Given the description of an element on the screen output the (x, y) to click on. 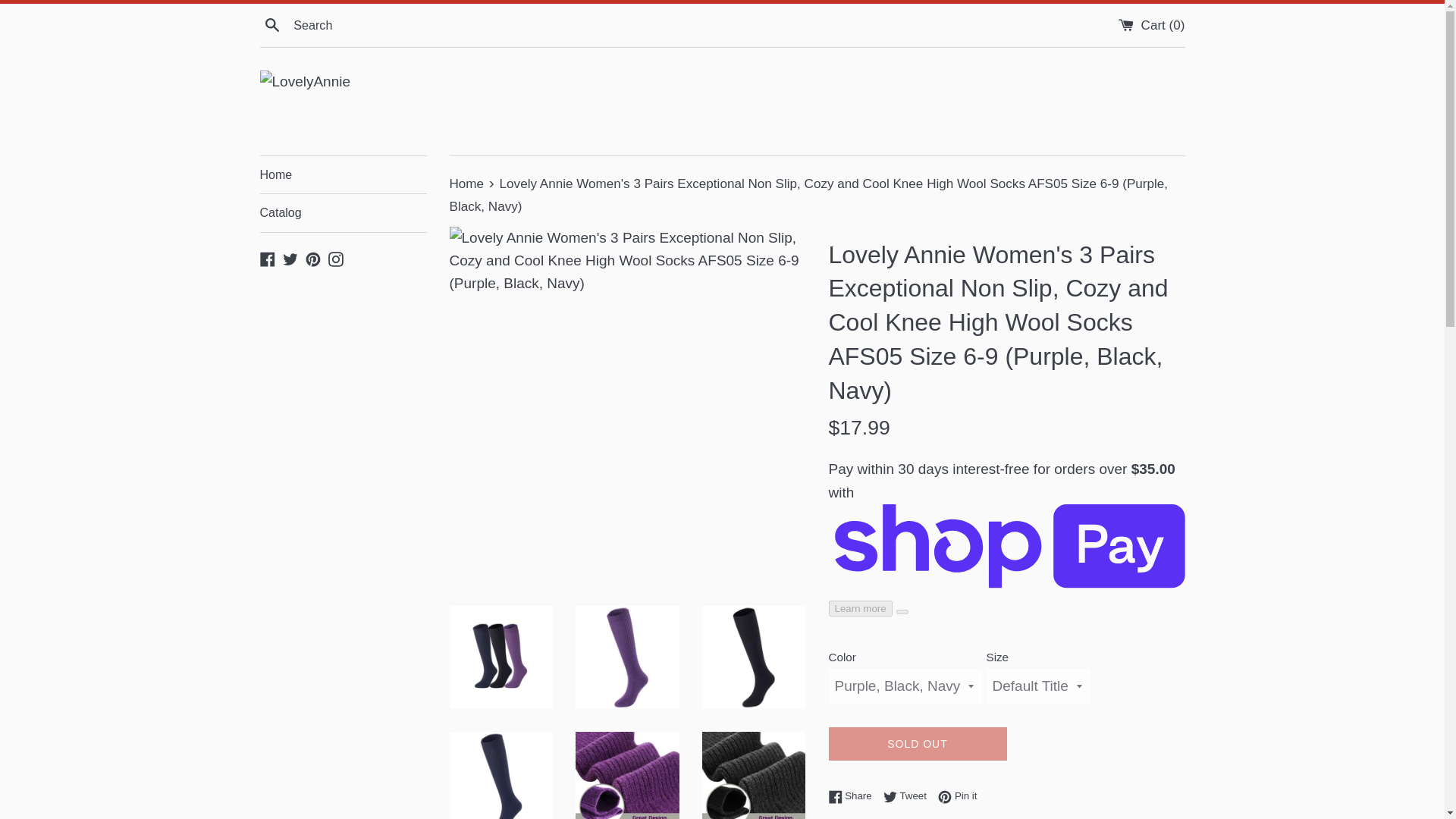
LovelyAnnie on Facebook (267, 258)
Home (467, 183)
Pinterest (312, 258)
Search (271, 24)
SOLD OUT (917, 744)
LovelyAnnie on Twitter (956, 795)
LovelyAnnie on Instagram (290, 258)
Pin on Pinterest (336, 258)
